Given the description of an element on the screen output the (x, y) to click on. 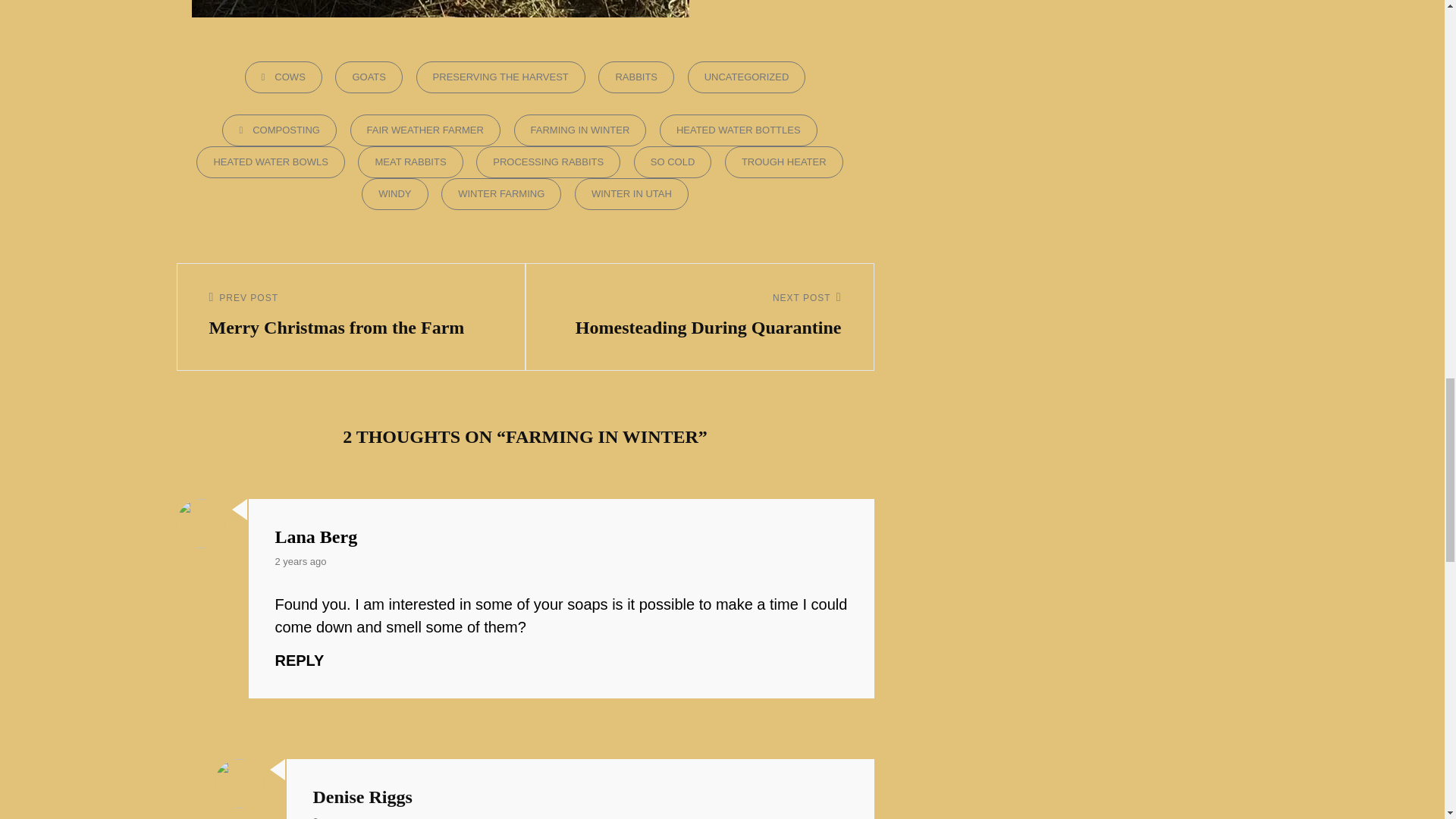
WINDY (394, 193)
COWS (282, 77)
GOATS (368, 77)
Denise Riggs (362, 796)
2 years ago (338, 815)
TROUGH HEATER (784, 162)
HEATED WATER BOWLS (269, 162)
COMPOSTING (279, 130)
WINTER FARMING (500, 193)
2 years ago (300, 561)
